Given the description of an element on the screen output the (x, y) to click on. 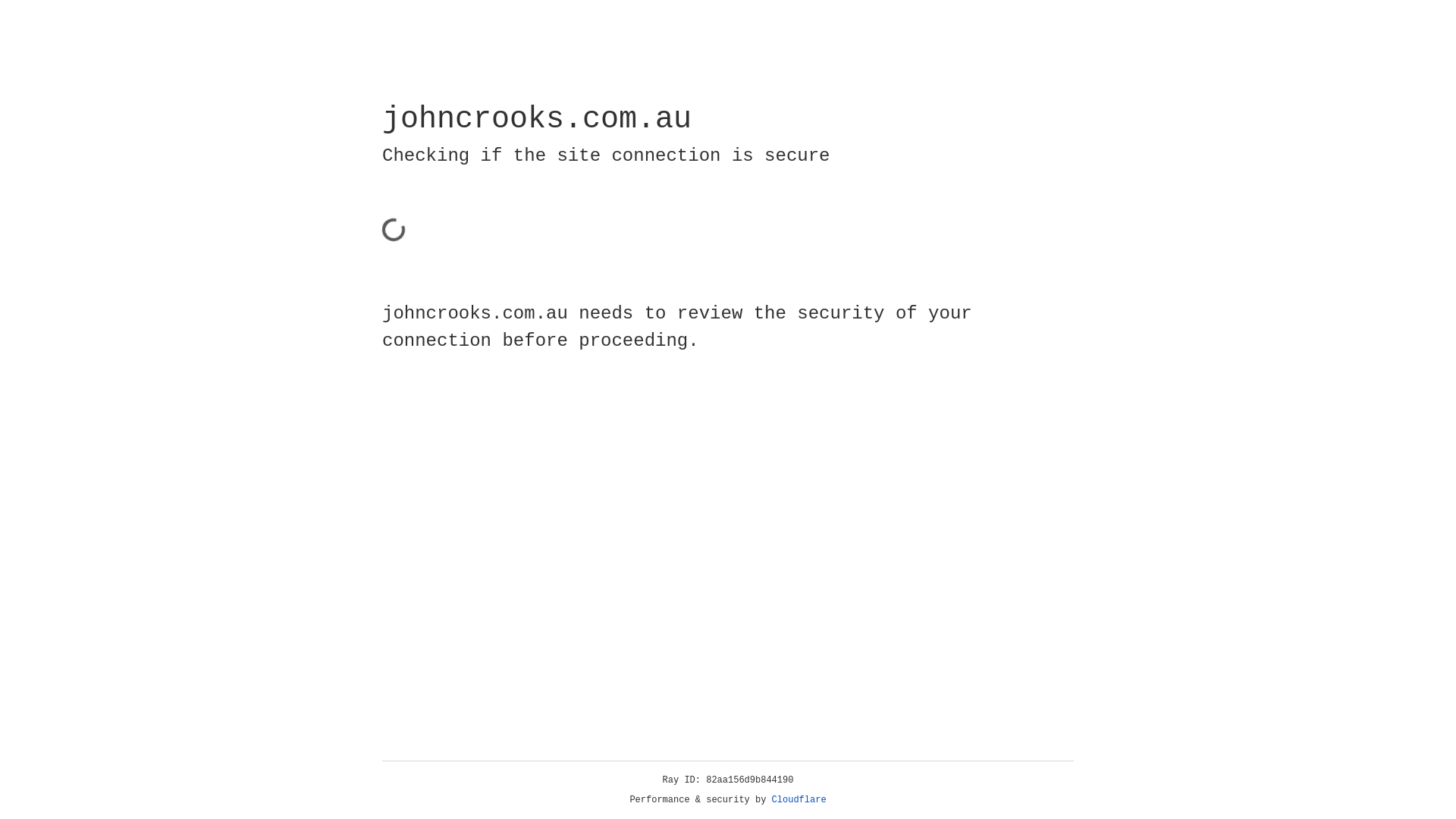
Cloudflare Element type: text (798, 799)
